Given the description of an element on the screen output the (x, y) to click on. 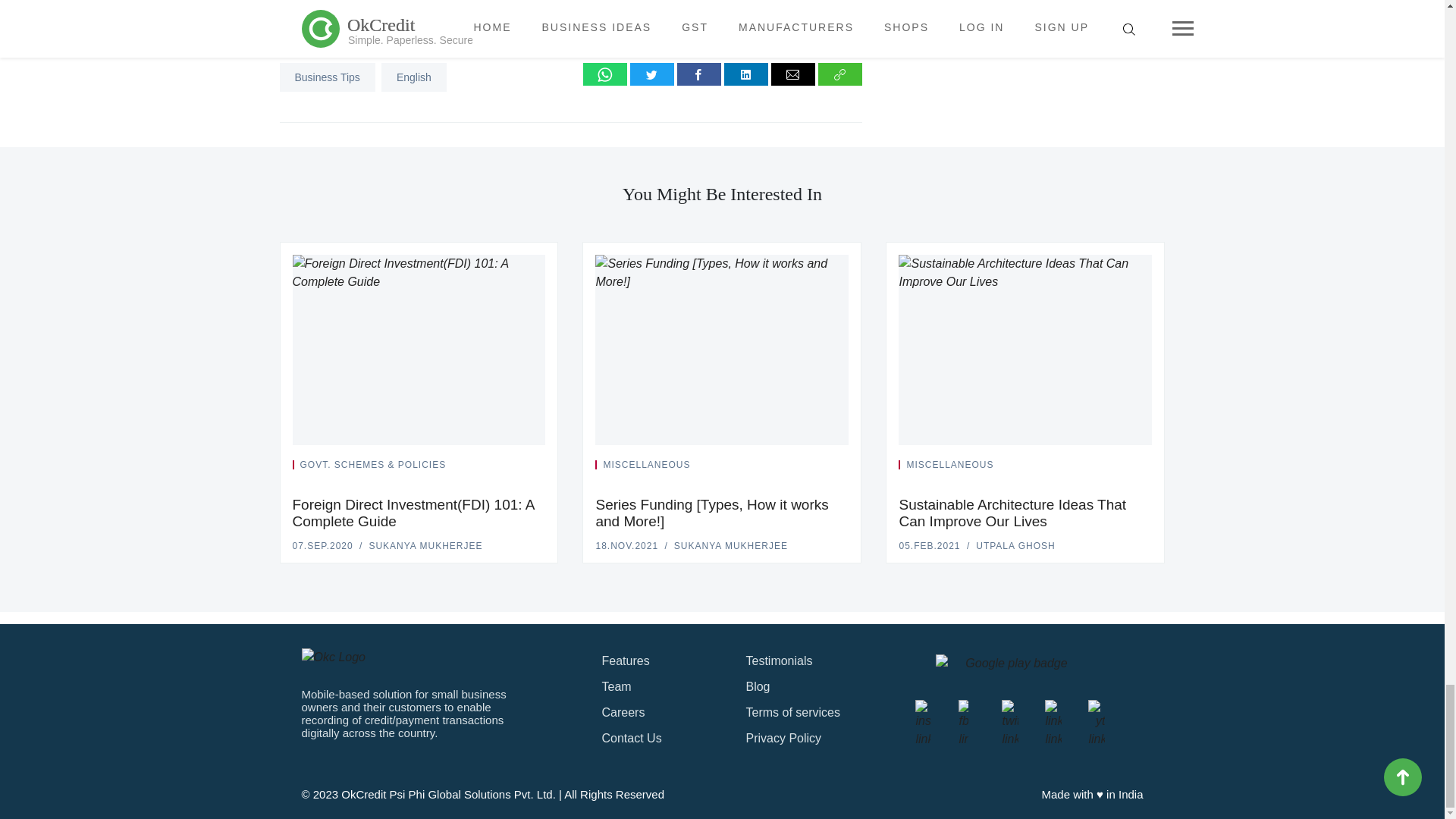
Share via Whatsapp (605, 74)
Share on Twitter (652, 74)
Share via Email (793, 74)
Share on LinkedIn (745, 74)
07 September 2020 (322, 545)
Share on Facebook (698, 74)
Copy link (839, 74)
